Given the description of an element on the screen output the (x, y) to click on. 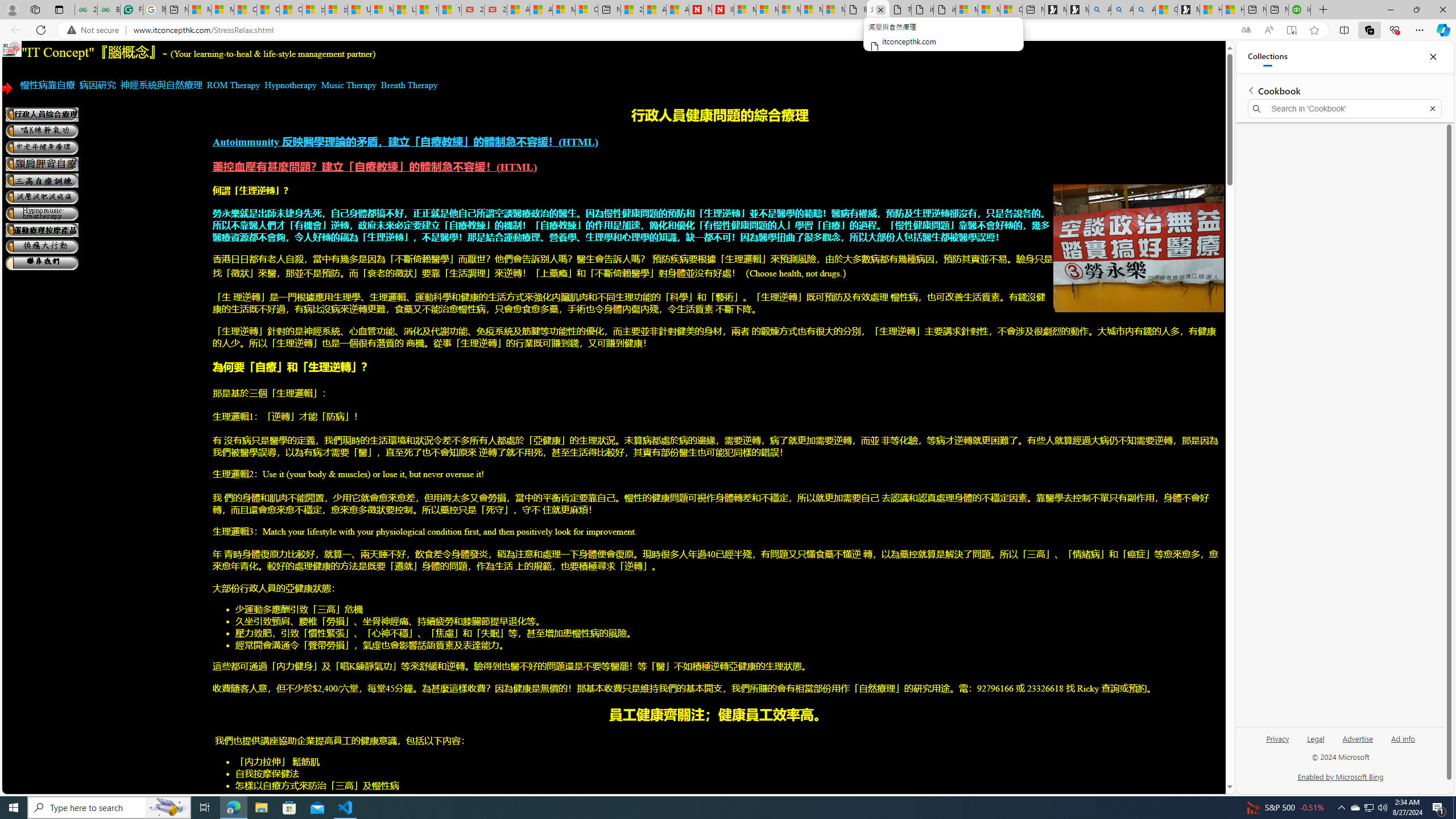
ROM Therapy (233, 85)
21 Movies That Outdid the Books They Were Based On (495, 9)
itconcepthk.com/projector_solutions.mp4 (944, 9)
Music Therapy (349, 85)
